Given the description of an element on the screen output the (x, y) to click on. 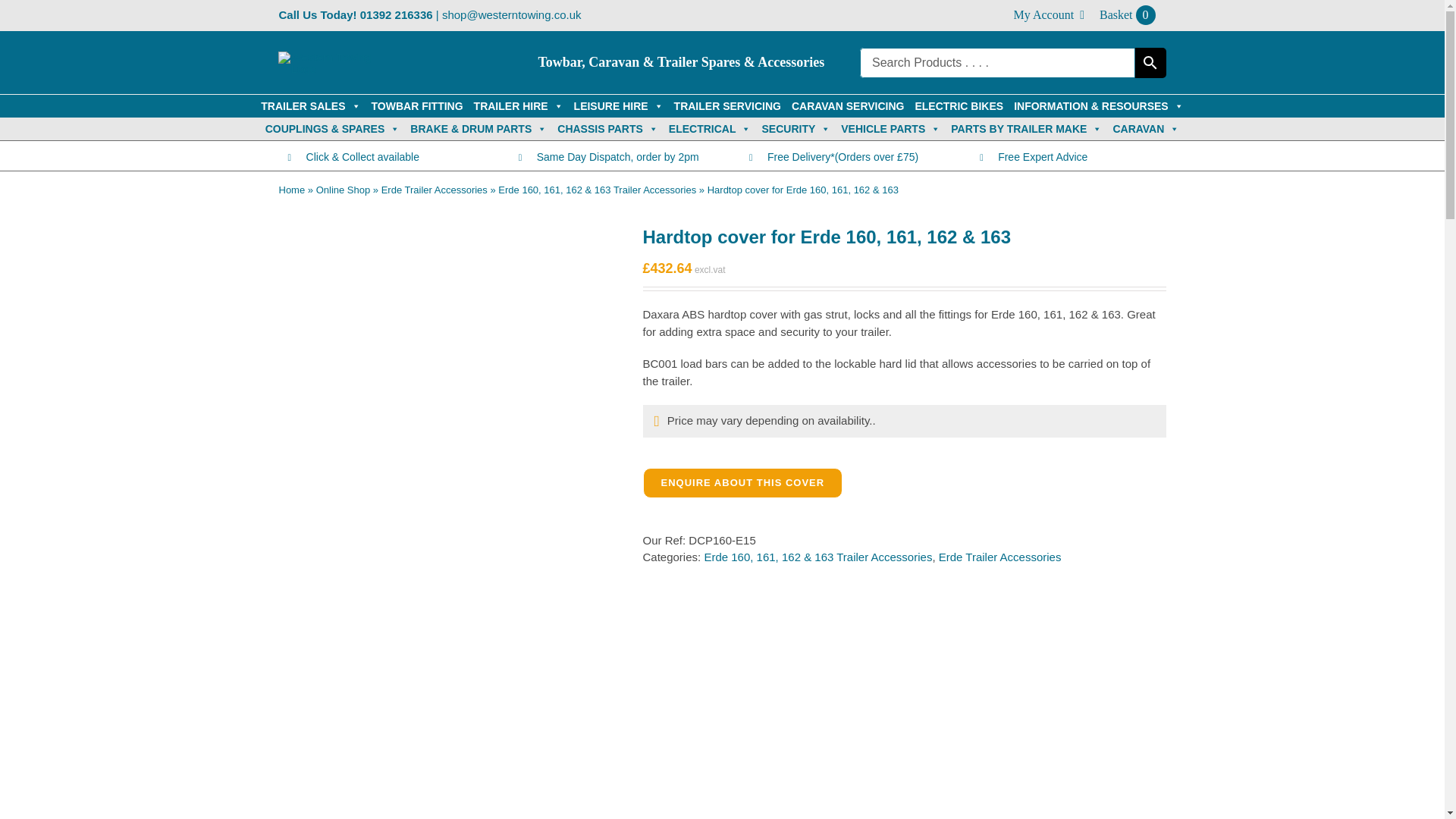
CARAVAN SERVICING (848, 106)
LEISURE HIRE (618, 106)
TRAILER HIRE (518, 106)
TOWBAR FITTING (417, 106)
Log In (1043, 155)
Towbar Fitting Service (417, 106)
TRAILER SALES (310, 106)
My Account (1049, 14)
Electric Cycles for Sale (1129, 14)
